Given the description of an element on the screen output the (x, y) to click on. 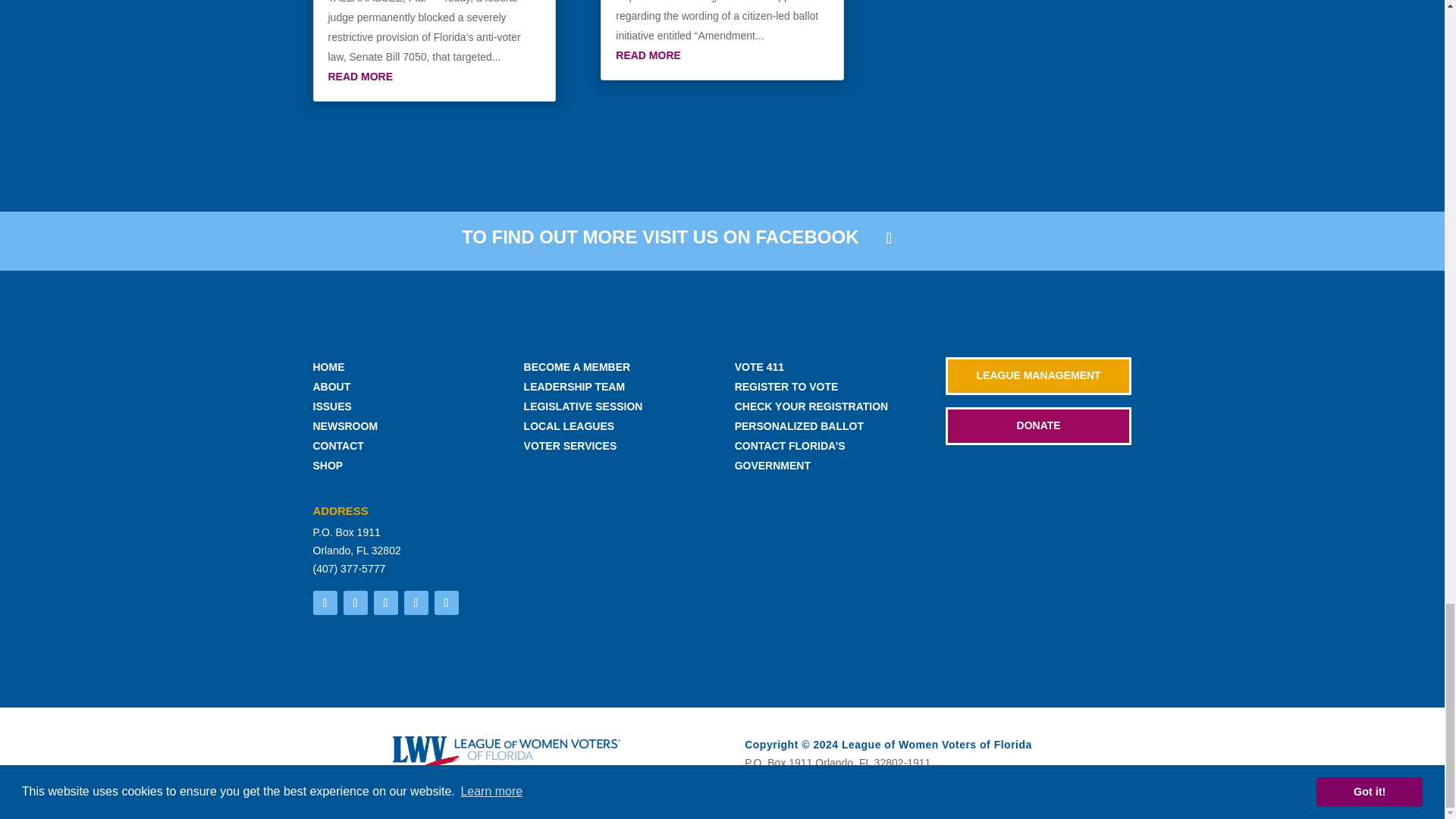
Follow on Facebook (888, 236)
Follow on Facebook (324, 602)
Follow on Instagram (354, 602)
Follow on Youtube (415, 602)
Follow on X (384, 602)
READ MORE (360, 76)
Follow on LinkedIn (445, 602)
